Given the description of an element on the screen output the (x, y) to click on. 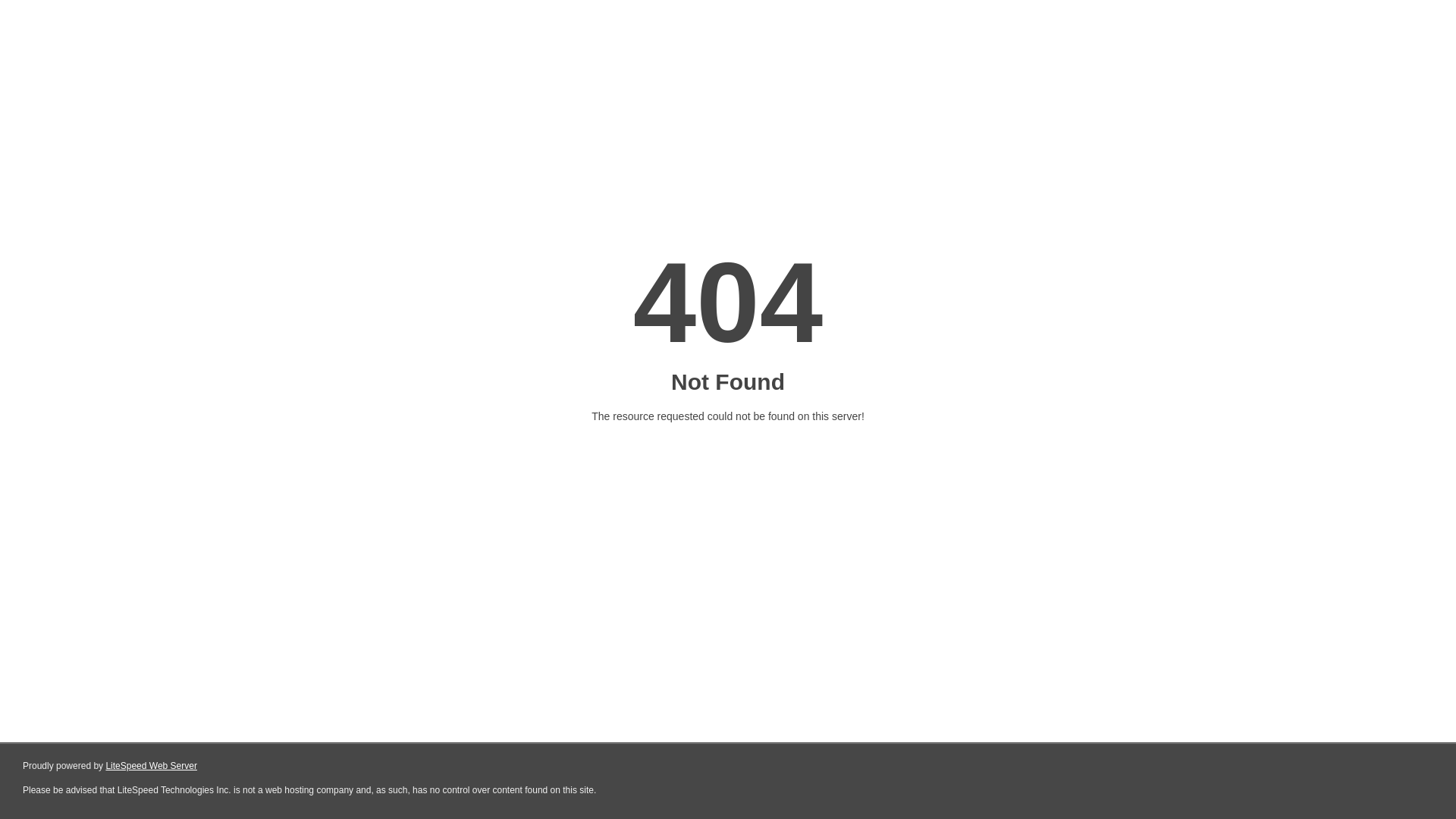
LiteSpeed Web Server Element type: text (151, 765)
